Given the description of an element on the screen output the (x, y) to click on. 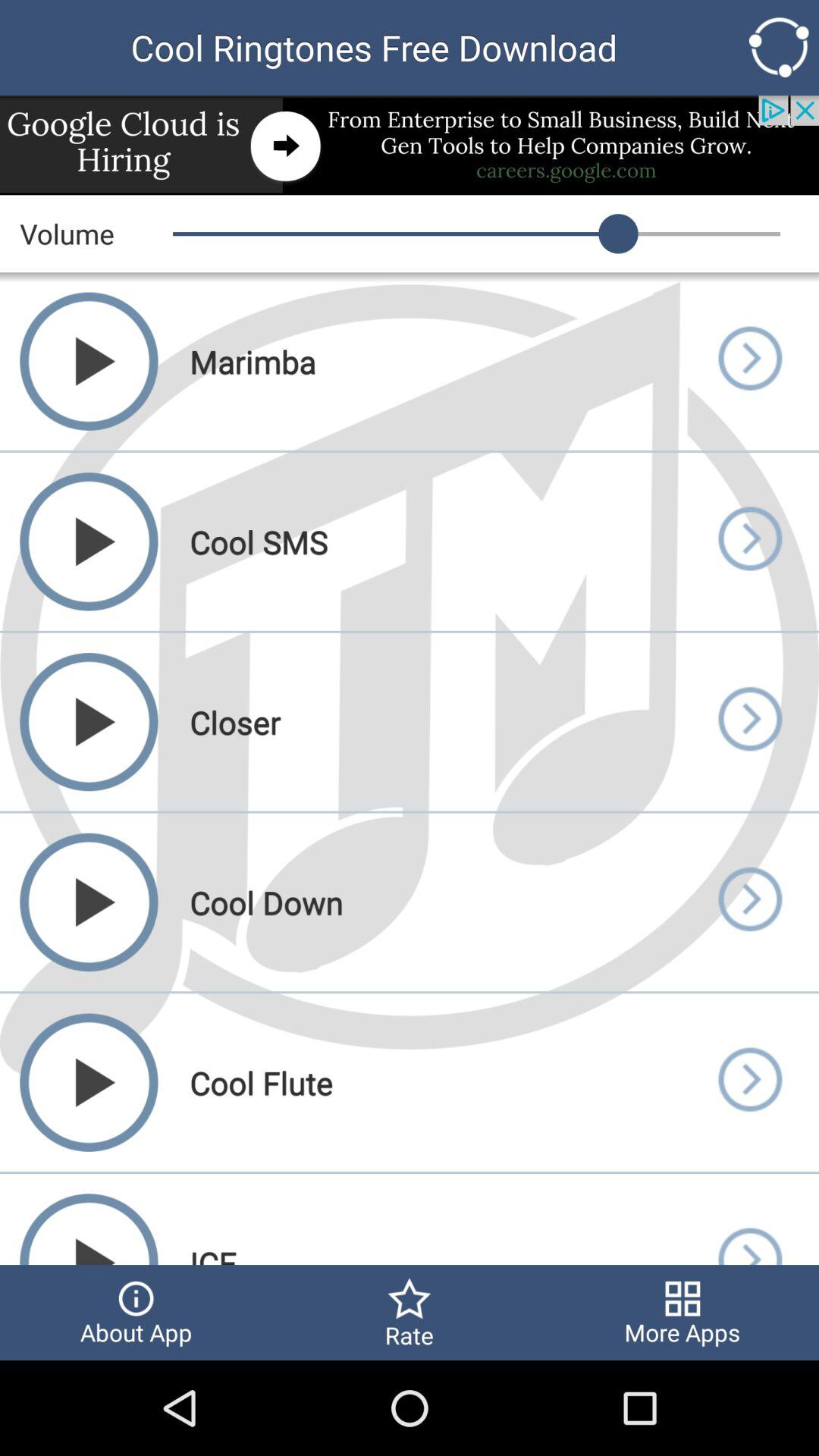
make random selection (778, 47)
